Given the description of an element on the screen output the (x, y) to click on. 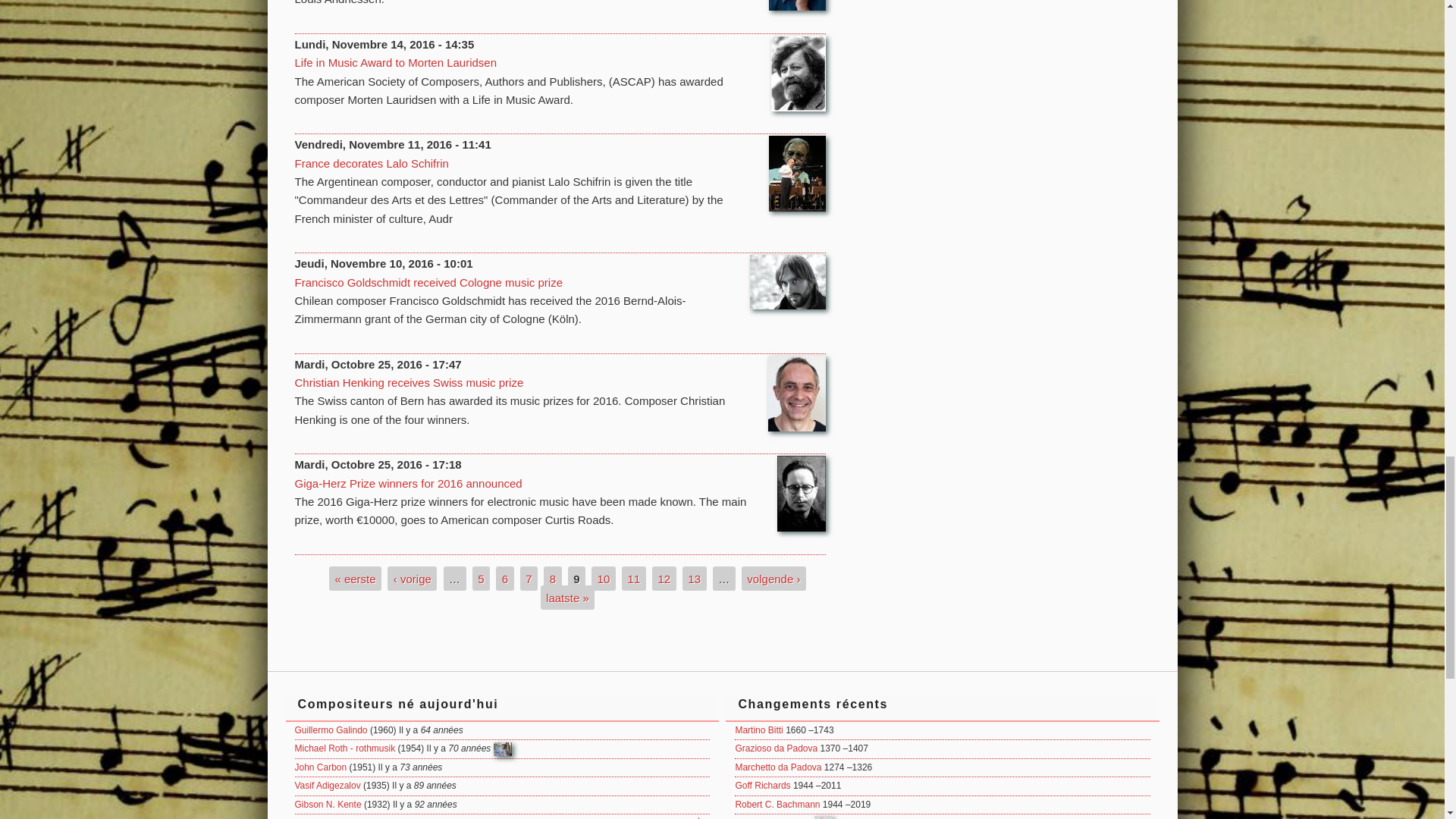
Life in Music Award to Morten Lauridsen (395, 62)
